Given the description of an element on the screen output the (x, y) to click on. 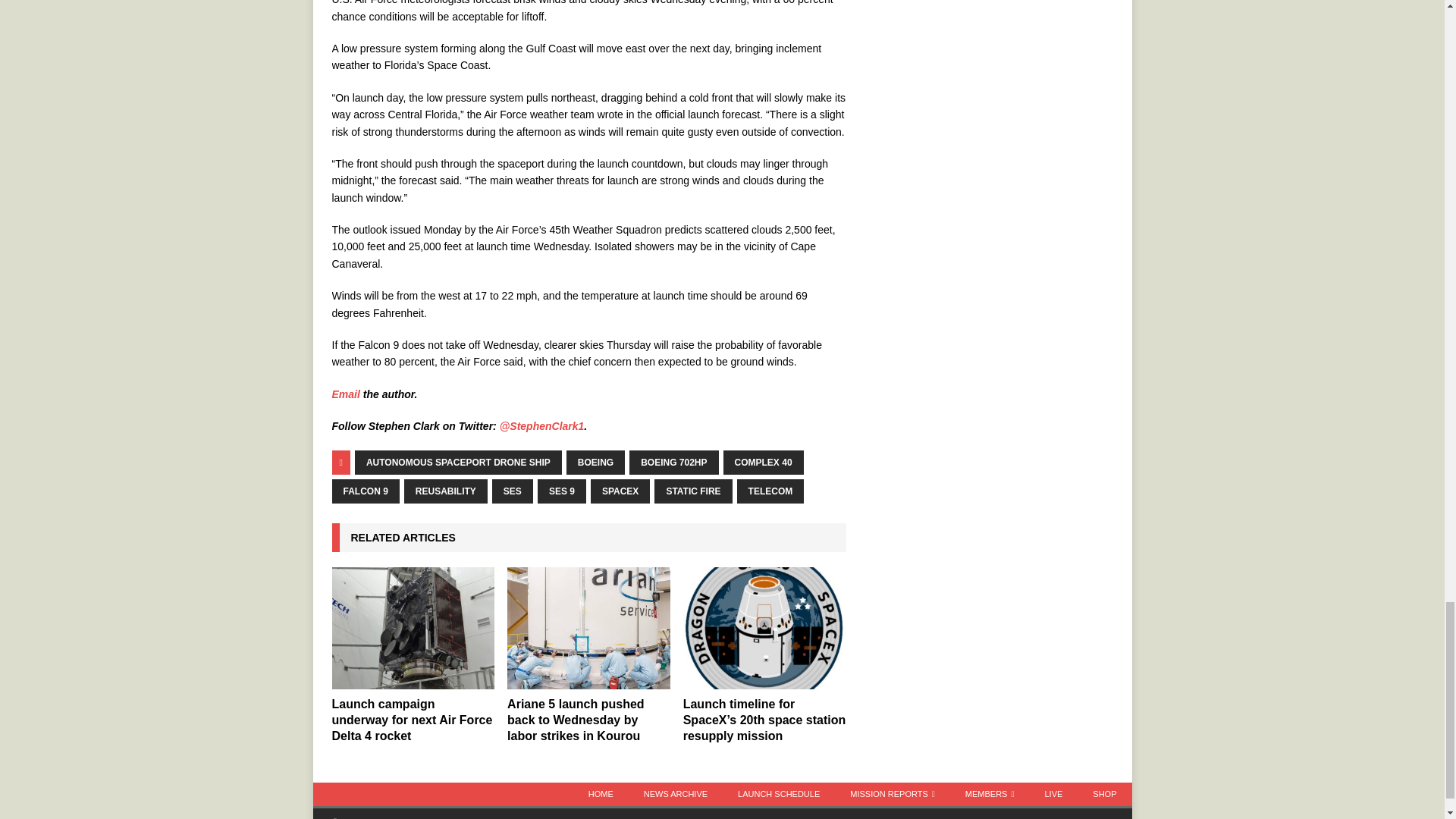
Launch campaign underway for next Air Force Delta 4 rocket (412, 719)
Launch campaign underway for next Air Force Delta 4 rocket (413, 628)
